Given the description of an element on the screen output the (x, y) to click on. 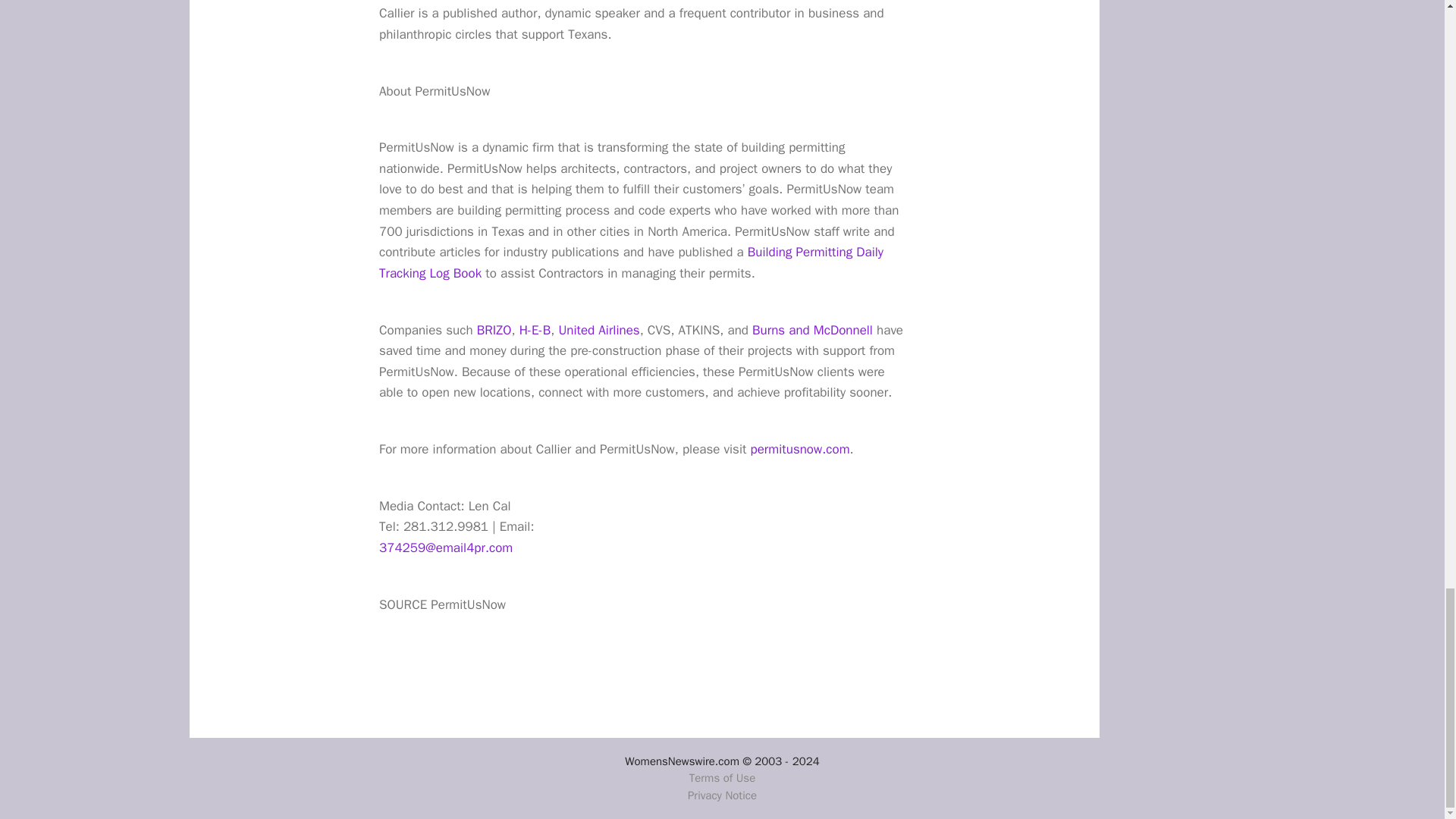
permitusnow.com (800, 449)
Terms of Use (721, 777)
Building Permitting Daily Tracking Log Book (630, 262)
United Airlines (598, 330)
BRIZO (494, 330)
Burns and McDonnell (812, 330)
H-E-B (534, 330)
Privacy Notice (722, 795)
